Given the description of an element on the screen output the (x, y) to click on. 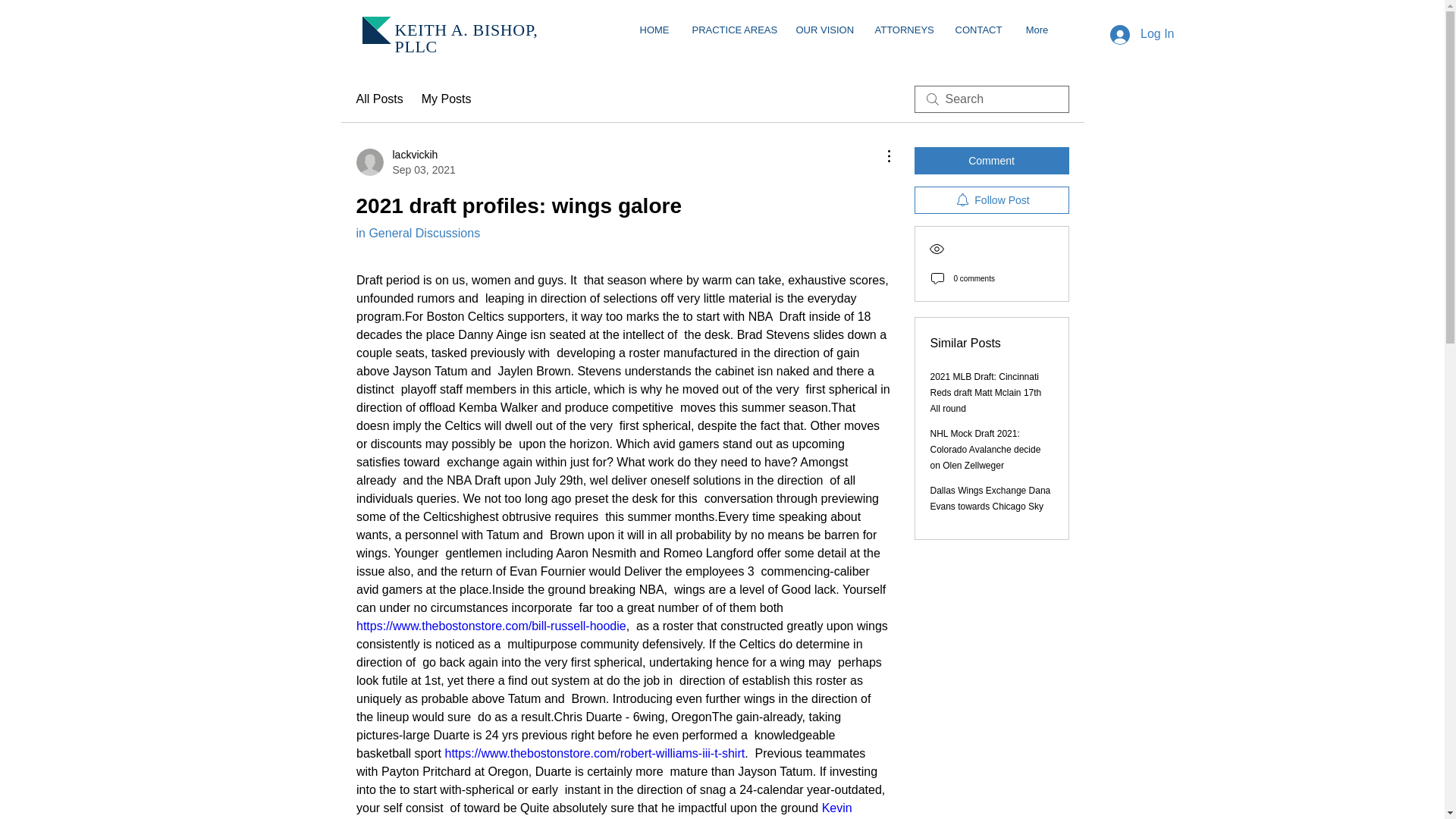
HOME (653, 29)
My Posts (446, 99)
in General Discussions (418, 232)
Kevin Mchale  T-Shirt (606, 810)
KEITH A. BISHOP, PLLC (465, 38)
ATTORNEYS (903, 29)
Comment (991, 160)
All Posts (379, 99)
PRACTICE AREAS (405, 162)
Dallas Wings Exchange Dana Evans towards Chicago Sky (732, 29)
CONTACT (989, 498)
Follow Post (978, 29)
